Given the description of an element on the screen output the (x, y) to click on. 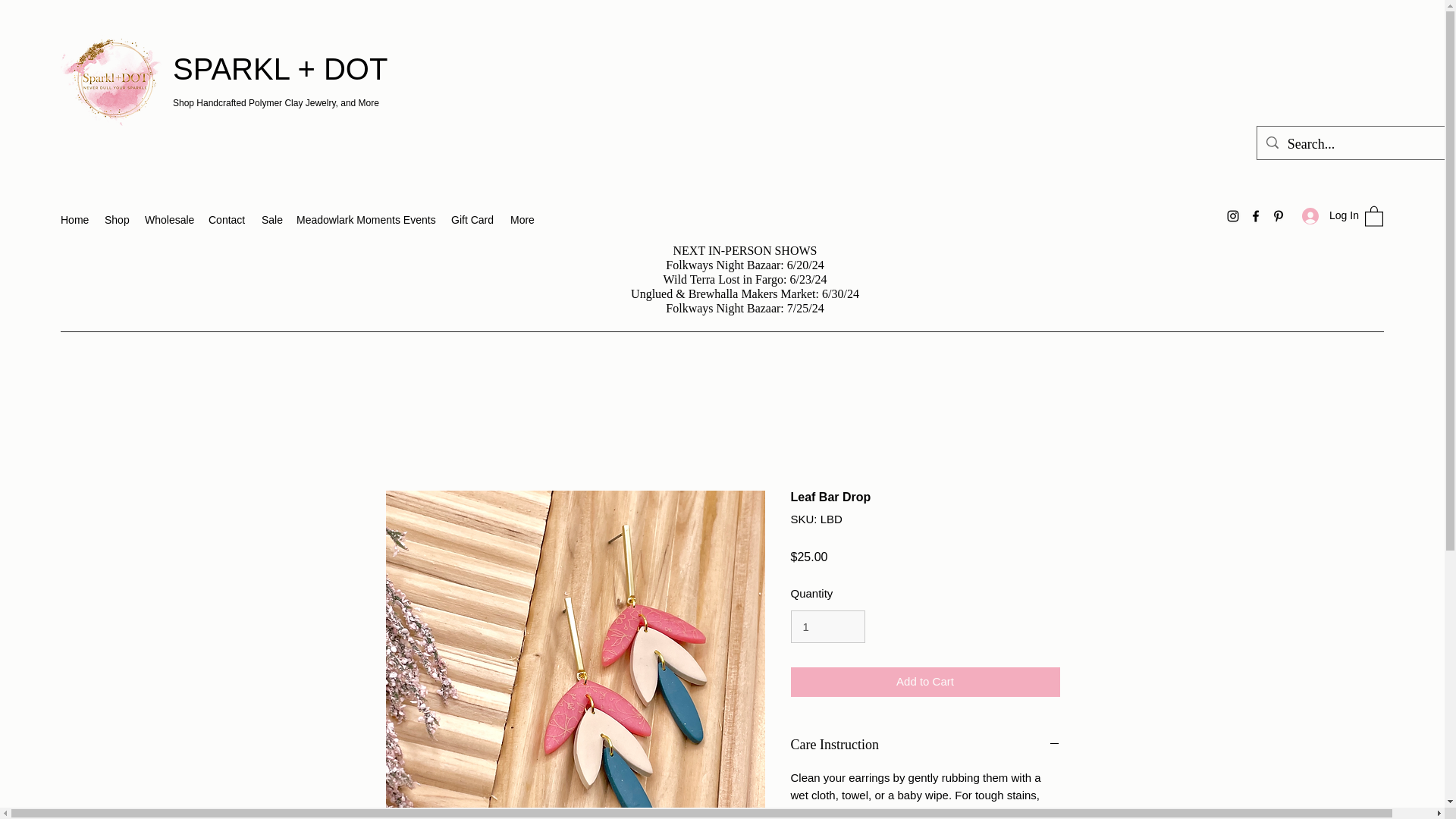
Add to Cart (924, 681)
Gift Card (473, 219)
Wholesale (168, 219)
Care Instruction (924, 745)
Log In (1325, 215)
Home (74, 219)
Meadowlark Moments Events (366, 219)
Shop (116, 219)
1 (827, 626)
Contact (226, 219)
Sale (270, 219)
